Given the description of an element on the screen output the (x, y) to click on. 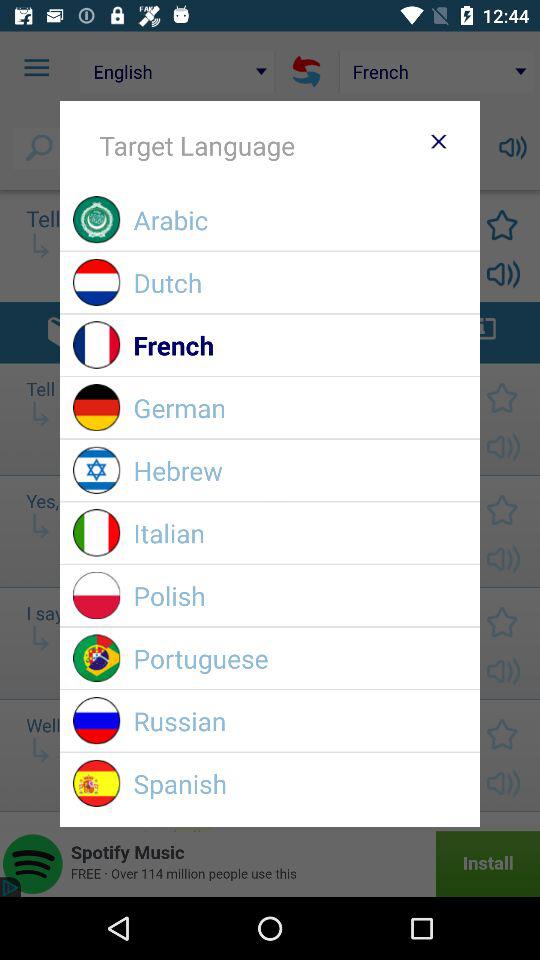
cancel (438, 141)
